Given the description of an element on the screen output the (x, y) to click on. 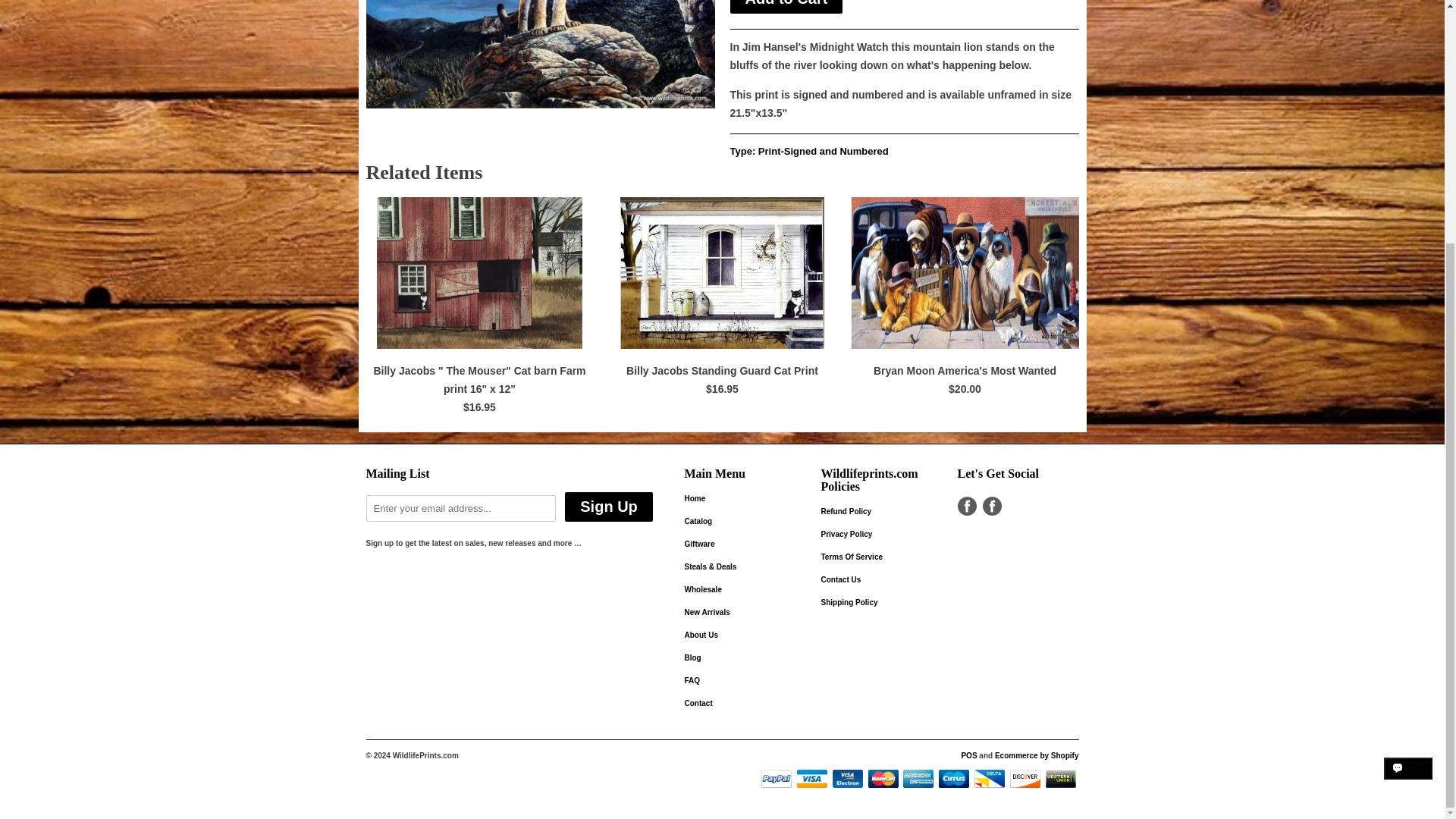
Add to Cart (786, 6)
Sign Up (608, 506)
